Given the description of an element on the screen output the (x, y) to click on. 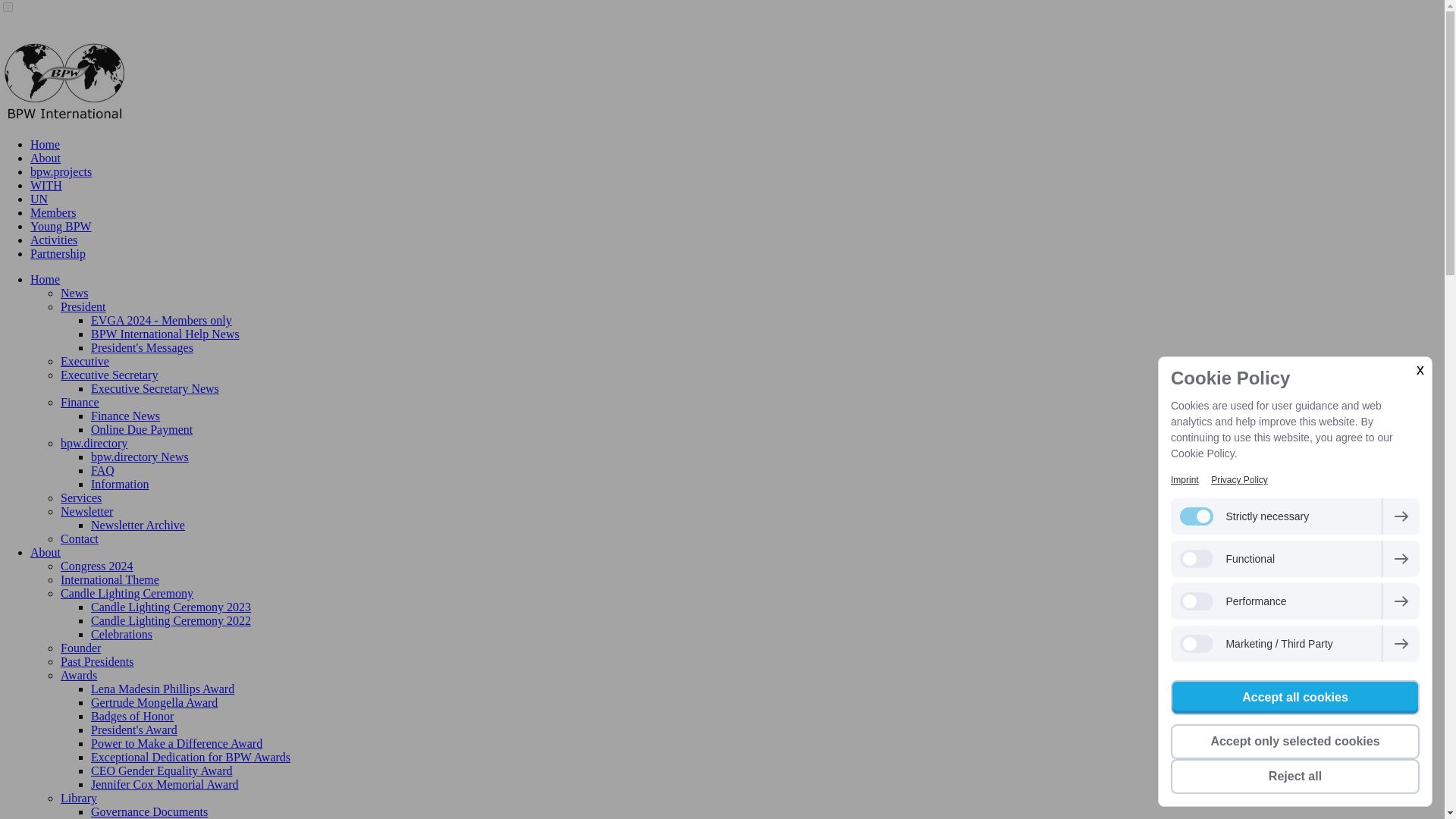
on (7, 7)
FAQ (102, 470)
bpw.projects (60, 171)
Celebrations (121, 634)
Executive (85, 360)
Newsletter Archive (137, 524)
About (45, 157)
Finance News (125, 415)
Newsletter (87, 511)
Founder (80, 647)
Young BPW (60, 226)
UN (39, 198)
Awards (79, 675)
EVGA 2024 - Members only (160, 319)
Past Presidents (97, 661)
